Given the description of an element on the screen output the (x, y) to click on. 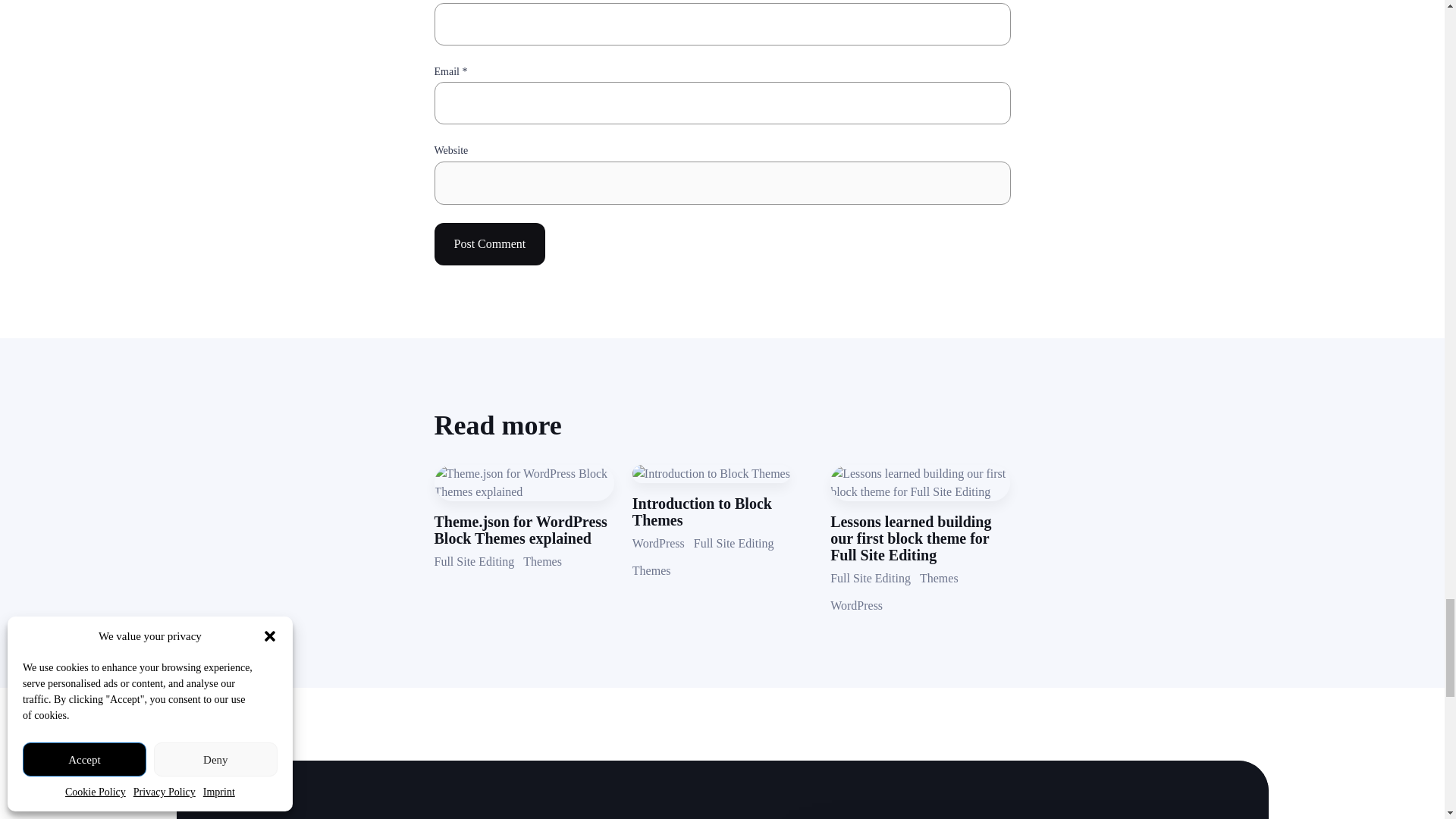
Post Comment (488, 243)
